Given the description of an element on the screen output the (x, y) to click on. 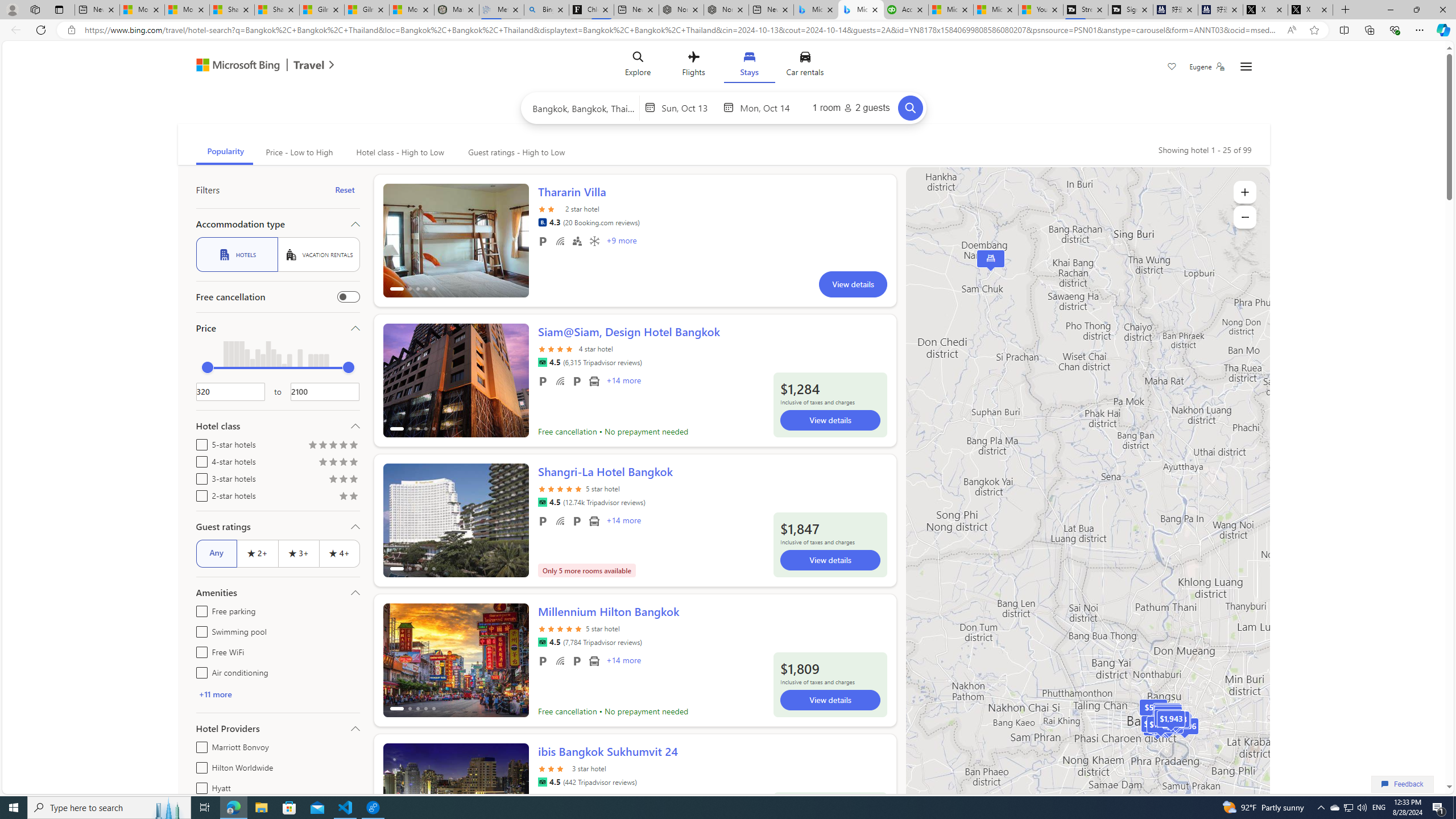
Air conditioning (199, 670)
+14 More Amenities (622, 661)
Settings (1245, 67)
View site information (70, 29)
App bar (728, 29)
Close (1442, 9)
Manatee Mortality Statistics | FWC (456, 9)
Price (277, 327)
Personal Profile (12, 9)
Search (909, 107)
Streaming Coverage | T3 (1085, 9)
Explore (637, 65)
Rating (353, 496)
